Given the description of an element on the screen output the (x, y) to click on. 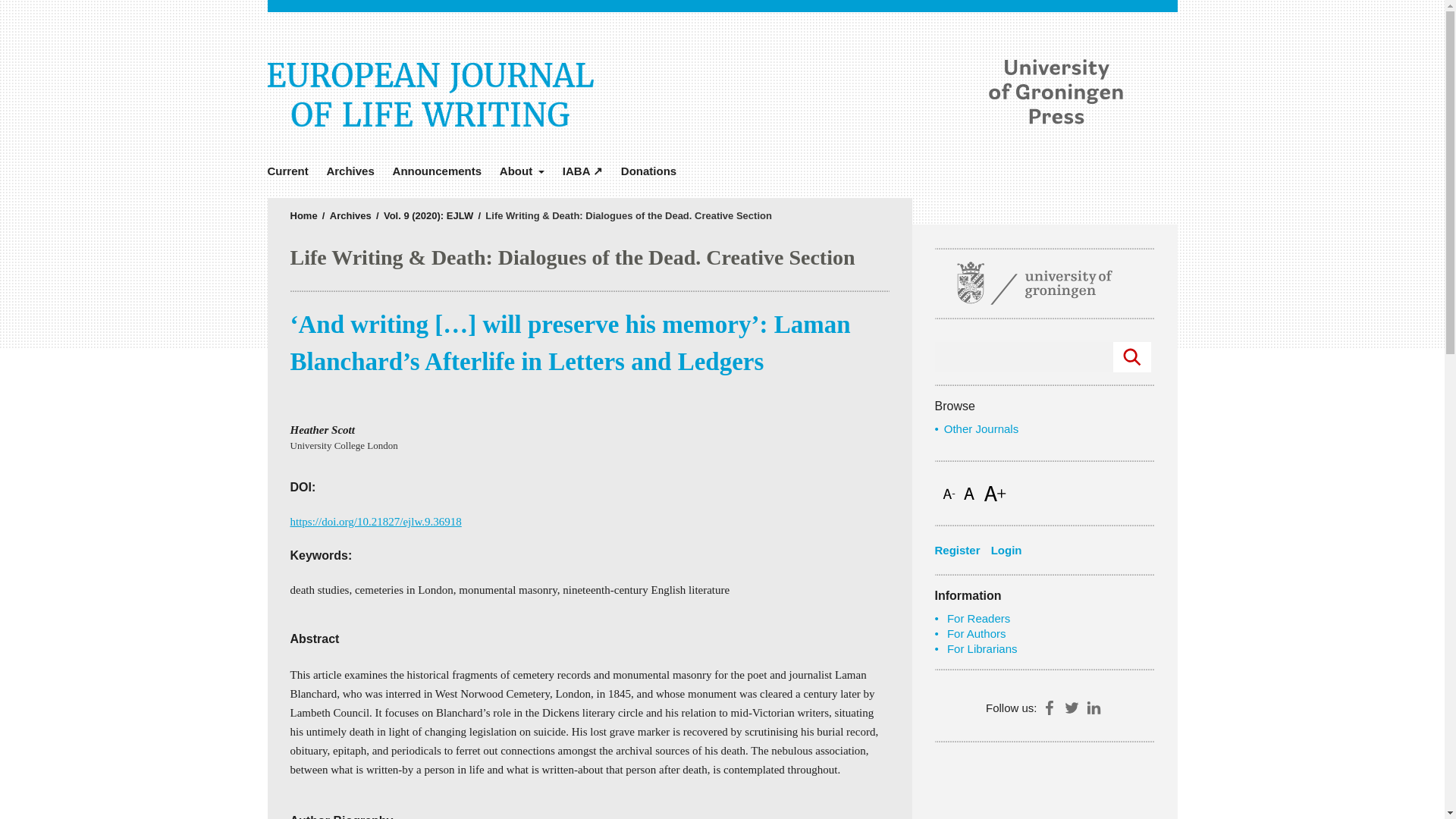
Search (1132, 357)
University of Groningen Press (941, 91)
Archives (349, 170)
Announcements (437, 170)
Other Journals (980, 428)
Register (960, 549)
Donations (648, 170)
Home (303, 215)
About (521, 170)
Current (290, 170)
